Given the description of an element on the screen output the (x, y) to click on. 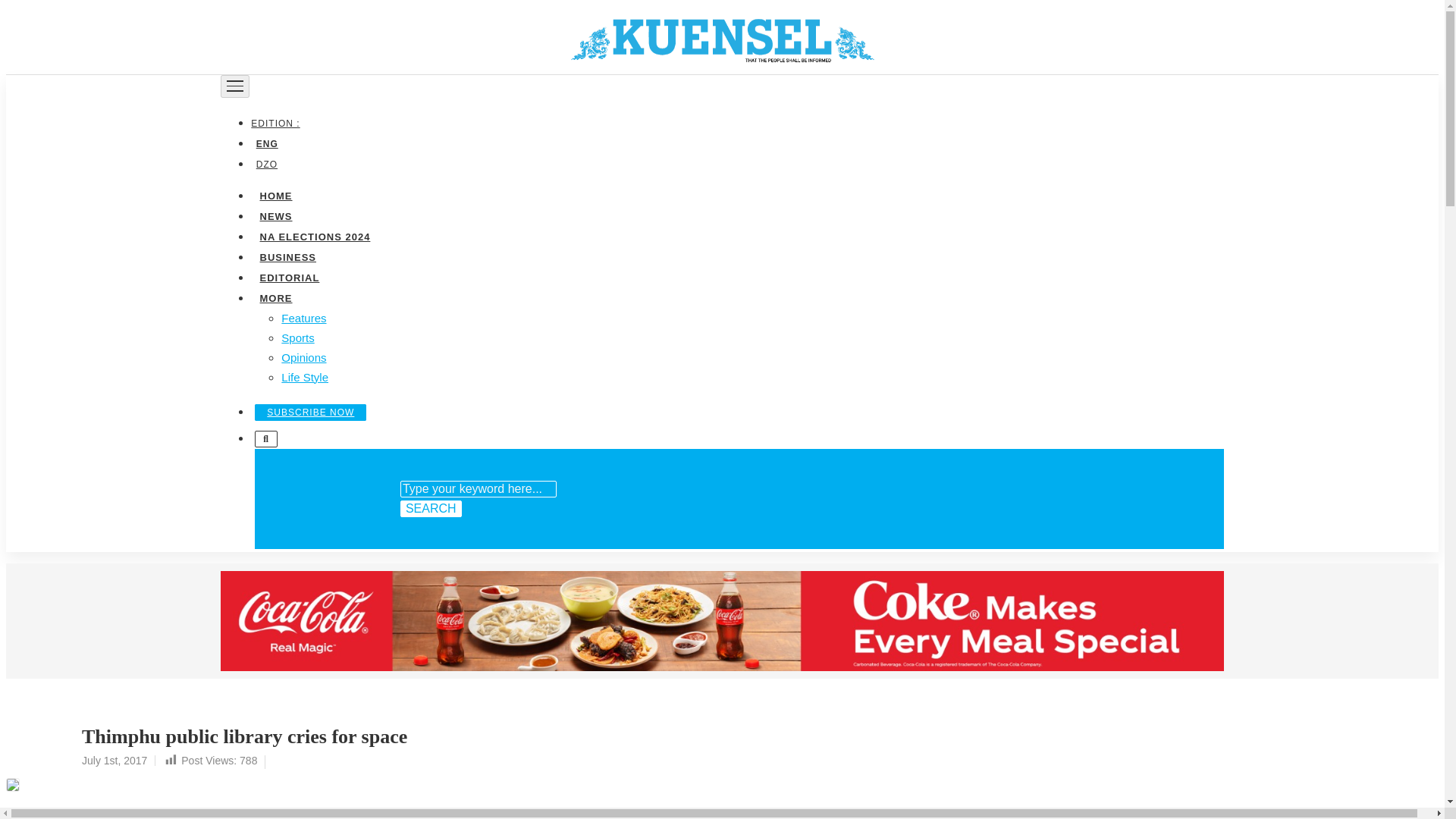
HOME (274, 194)
SUBSCRIBE NOW (310, 411)
MORE (274, 297)
ENG (266, 143)
DZO (266, 163)
EDITION : (277, 122)
EDITORIAL (288, 276)
NEWS (274, 215)
SEARCH (430, 508)
Opinions (303, 356)
